Given the description of an element on the screen output the (x, y) to click on. 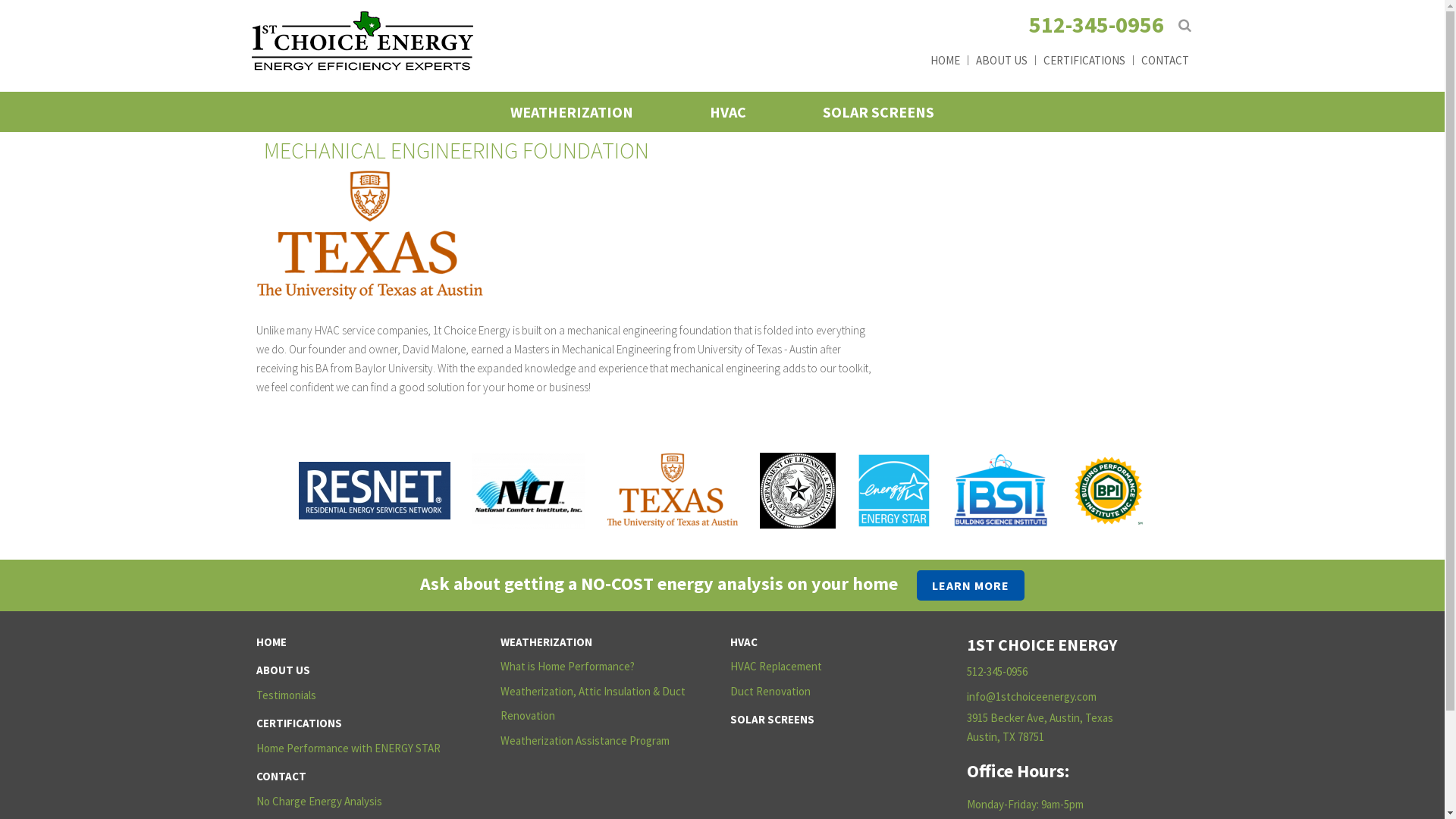
SOLAR SCREENS Element type: text (878, 111)
HVAC Element type: text (832, 642)
Testimonials Element type: text (359, 695)
No Charge Energy Analysis Element type: text (359, 801)
energy star logo Element type: hover (893, 490)
HVAC Element type: text (727, 111)
WEATHERIZATION Element type: text (603, 642)
WEATHERIZATION Element type: text (571, 111)
info@1stchoiceenergy.com Element type: text (1031, 696)
512-345-0956 Element type: text (996, 671)
LEARN MORE Element type: text (970, 585)
ABOUT US Element type: text (999, 59)
What is Home Performance? Element type: text (603, 666)
SOLAR SCREENS Element type: text (832, 719)
HOME Element type: text (359, 642)
CONTACT Element type: text (359, 776)
HOME Element type: text (942, 59)
Home Element type: hover (362, 69)
HVAC Replacement Element type: text (832, 666)
CERTIFICATIONS Element type: text (1081, 59)
512-345-0956 Element type: text (1095, 23)
Weatherization, Attic Insulation & Duct Renovation Element type: text (603, 703)
Duct Renovation Element type: text (832, 691)
Skip to main content Element type: text (653, 0)
CONTACT Element type: text (1162, 59)
Weatherization Assistance Program Element type: text (603, 740)
Home Performance with ENERGY STAR Element type: text (359, 748)
ABOUT US Element type: text (359, 670)
CERTIFICATIONS Element type: text (359, 723)
